Given the description of an element on the screen output the (x, y) to click on. 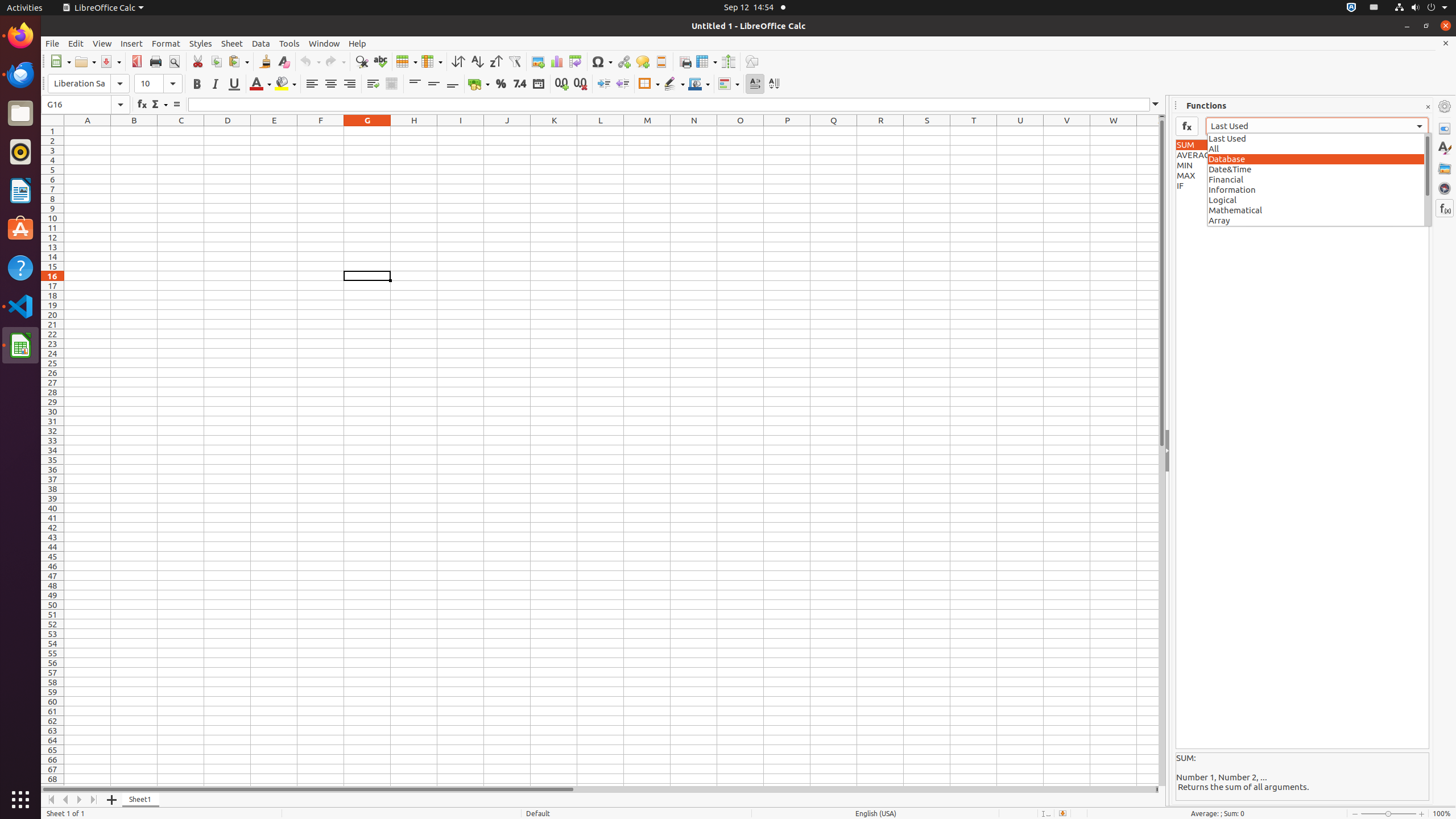
C1 Element type: table-cell (180, 130)
Redo Element type: push-button (334, 61)
Show Applications Element type: toggle-button (20, 799)
Underline Element type: push-button (233, 83)
Last Used Element type: list-item (1319, 138)
